Given the description of an element on the screen output the (x, y) to click on. 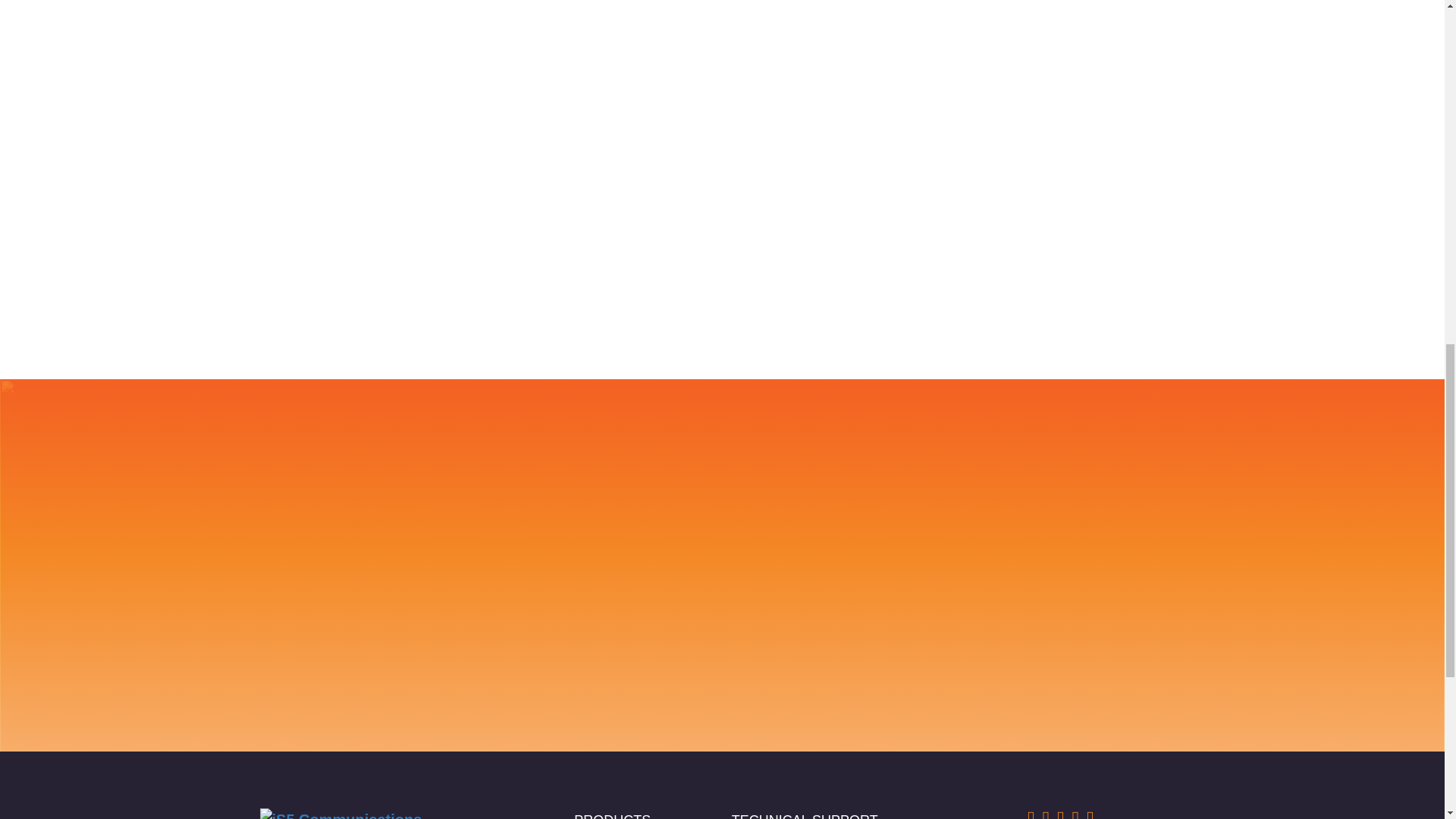
PRODUCTS (611, 816)
